Given the description of an element on the screen output the (x, y) to click on. 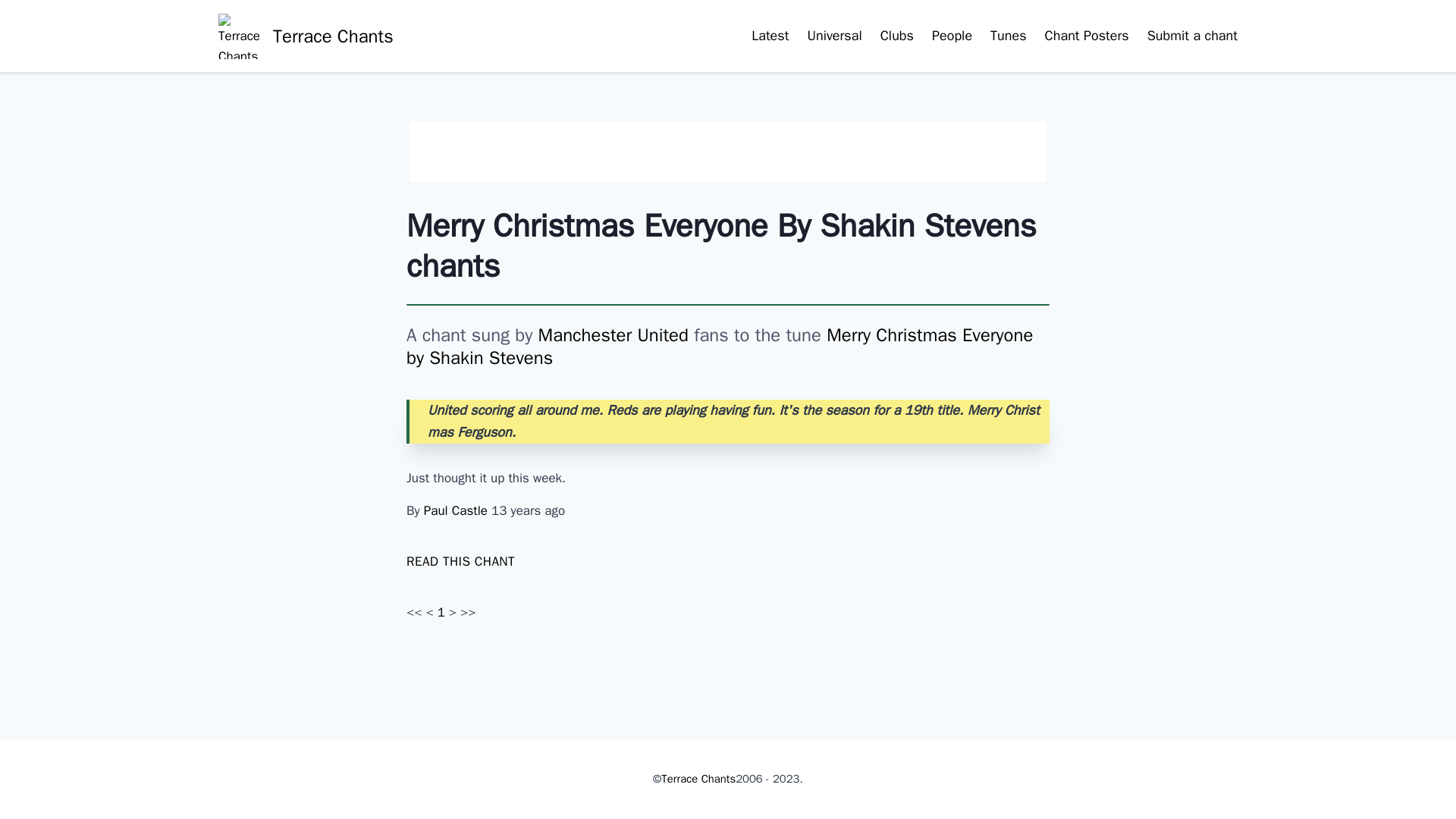
1 (443, 611)
Terrace Chants Submit a chant (1192, 35)
Tunes (1008, 35)
Terrace Chants People (951, 35)
Universal (833, 35)
Terrace Chants Chant Posters (1087, 35)
Manchester United (613, 334)
Terrace Chants Tunes (1008, 35)
Permalink for chant number 2455 (460, 561)
Paul Castle (457, 510)
Merry Christmas Everyone by Shakin Stevens (719, 346)
Terrace Chants Clubs (770, 35)
Terrace Chants Clubs (897, 35)
Terrace Chants (698, 779)
Terrace Chants (305, 35)
